Given the description of an element on the screen output the (x, y) to click on. 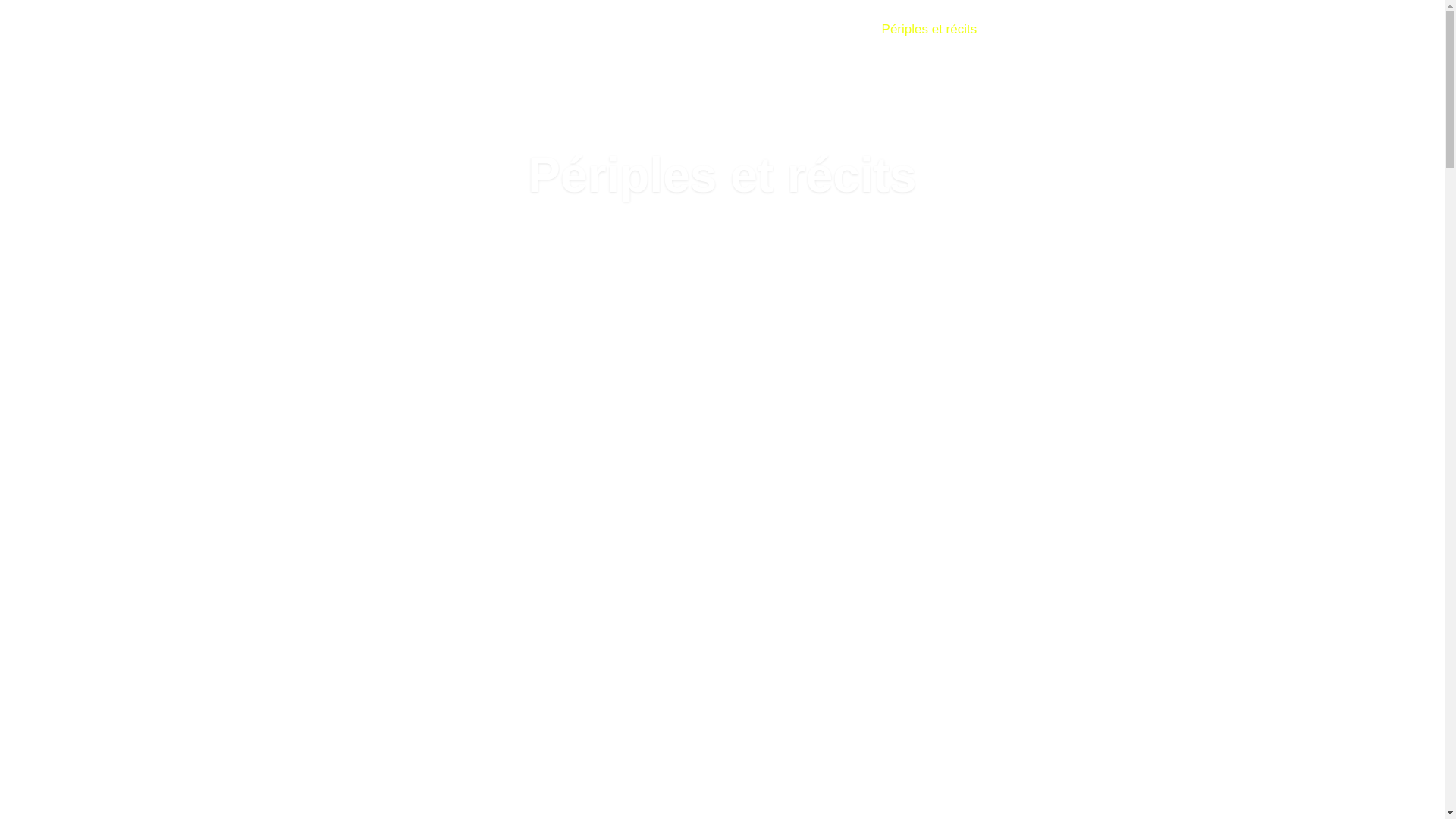
Liens amis Element type: text (1031, 29)
Marcher Element type: text (833, 29)
Accueil Element type: text (764, 29)
